Given the description of an element on the screen output the (x, y) to click on. 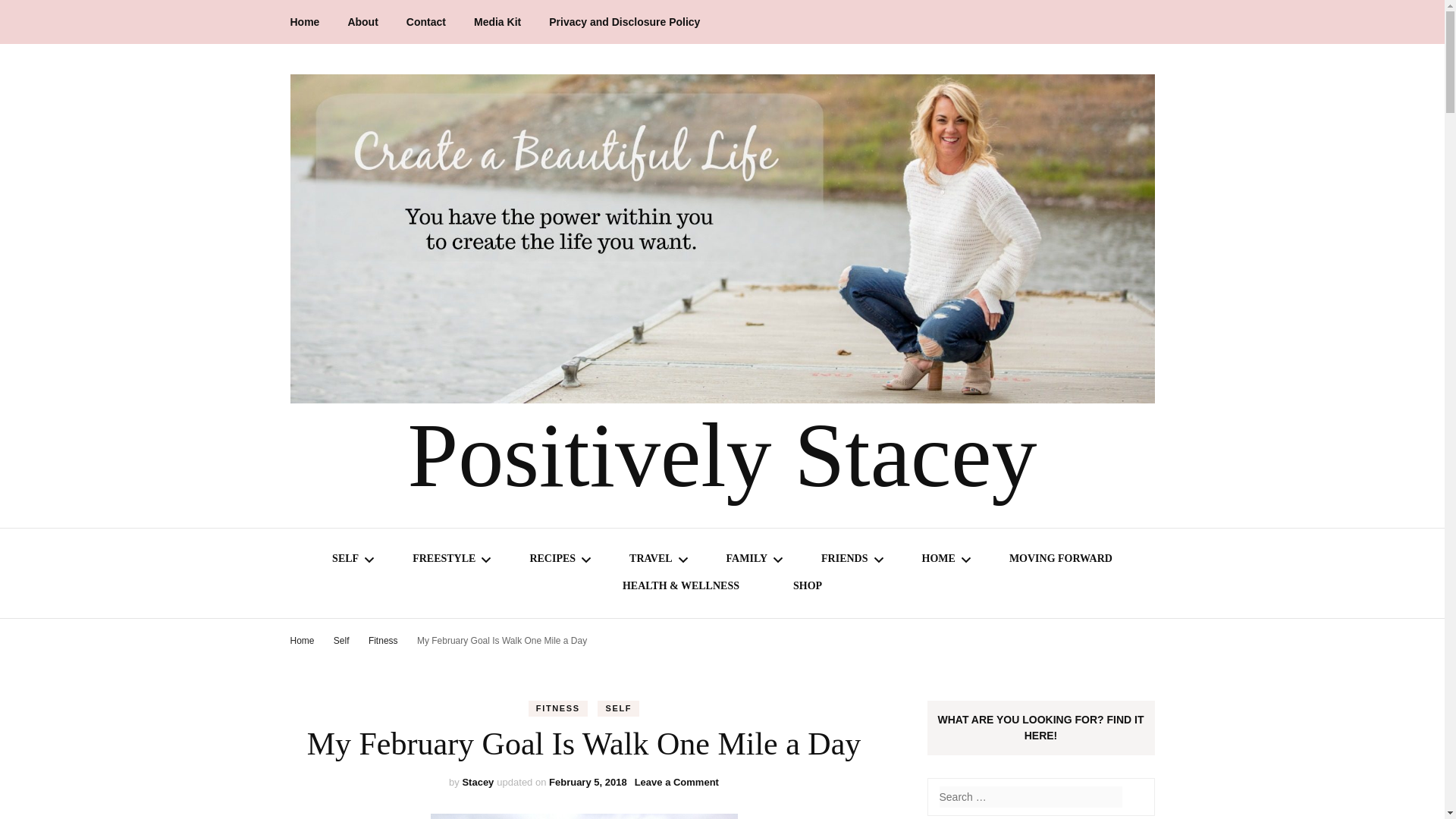
RECIPES (552, 560)
Media Kit (497, 21)
Home (303, 21)
About (362, 21)
SELF (344, 560)
FREESTYLE (444, 560)
Positively Stacey (721, 455)
Search (1134, 797)
Search (1134, 797)
Privacy and Disclosure Policy (624, 21)
